Given the description of an element on the screen output the (x, y) to click on. 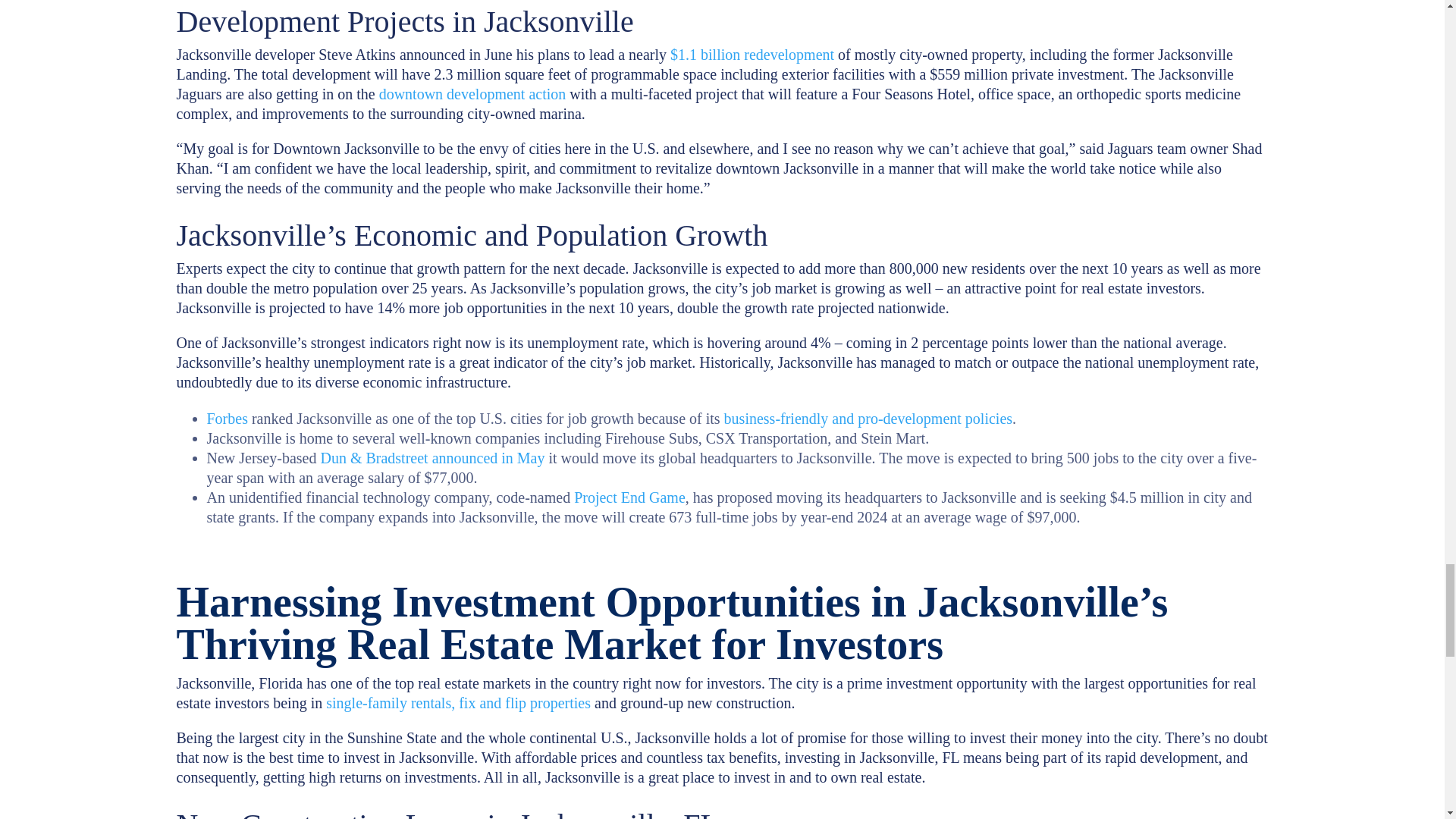
Project End Game (629, 497)
Forbes (226, 418)
business-friendly and pro-development policies (867, 418)
downtown development action (472, 93)
single-family rentals, fix and flip properties (458, 702)
